Given the description of an element on the screen output the (x, y) to click on. 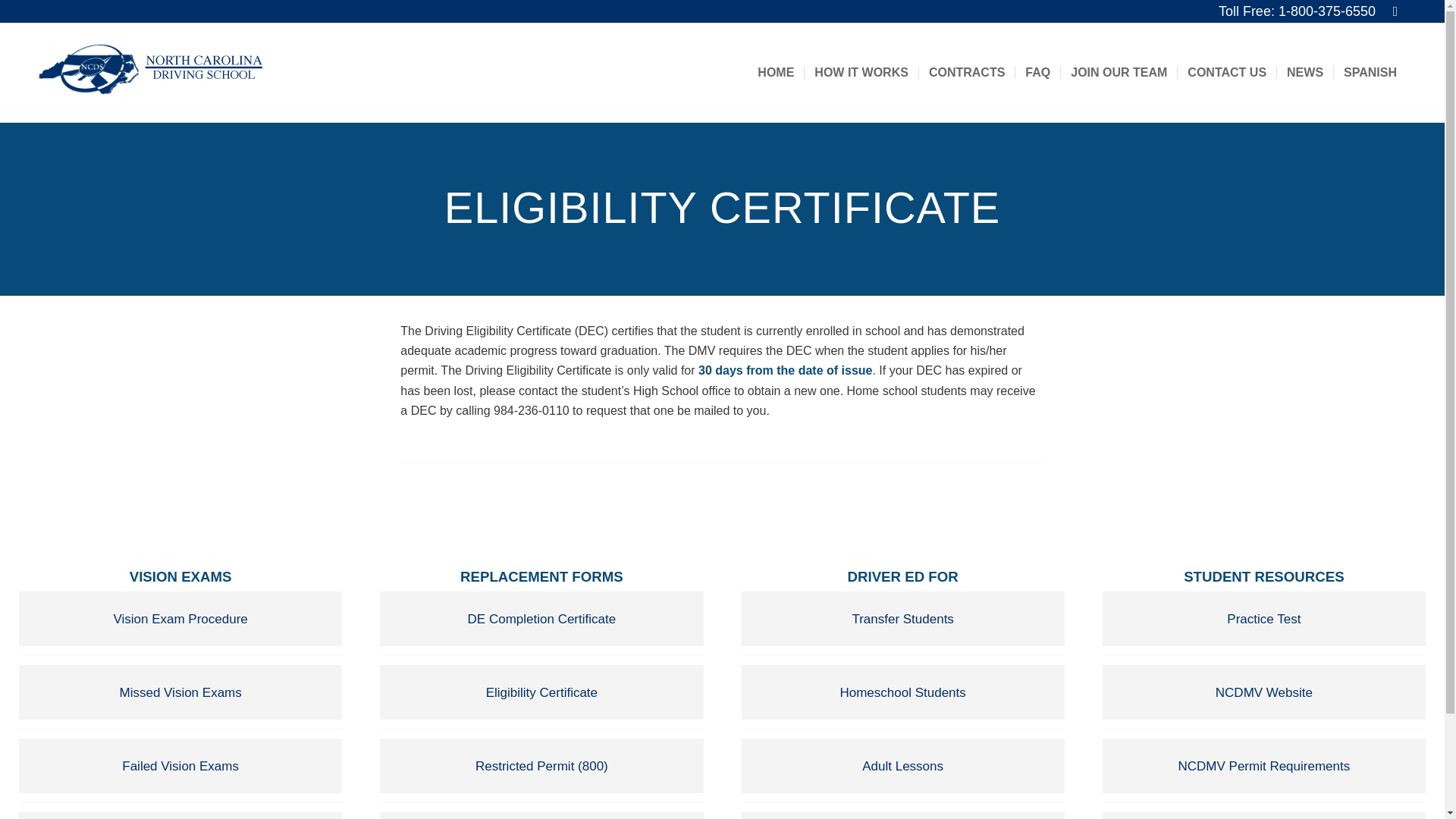
Missed Vision Exams (180, 692)
Adult Lessons (902, 765)
DE Completion Certificate (541, 618)
NCDMV Driving Log (1263, 815)
Facebook (1395, 11)
Medical Reviews (180, 815)
Practice Test (1263, 618)
Eligibility Certificate (541, 692)
Failed Vision Exams (180, 765)
HOW IT WORKS (860, 72)
Defensive Driving Classes (902, 815)
Vision Exam Procedure (180, 618)
Homeschool Students (902, 692)
NCDMV Website (1263, 692)
CONTACT US (1226, 72)
